Given the description of an element on the screen output the (x, y) to click on. 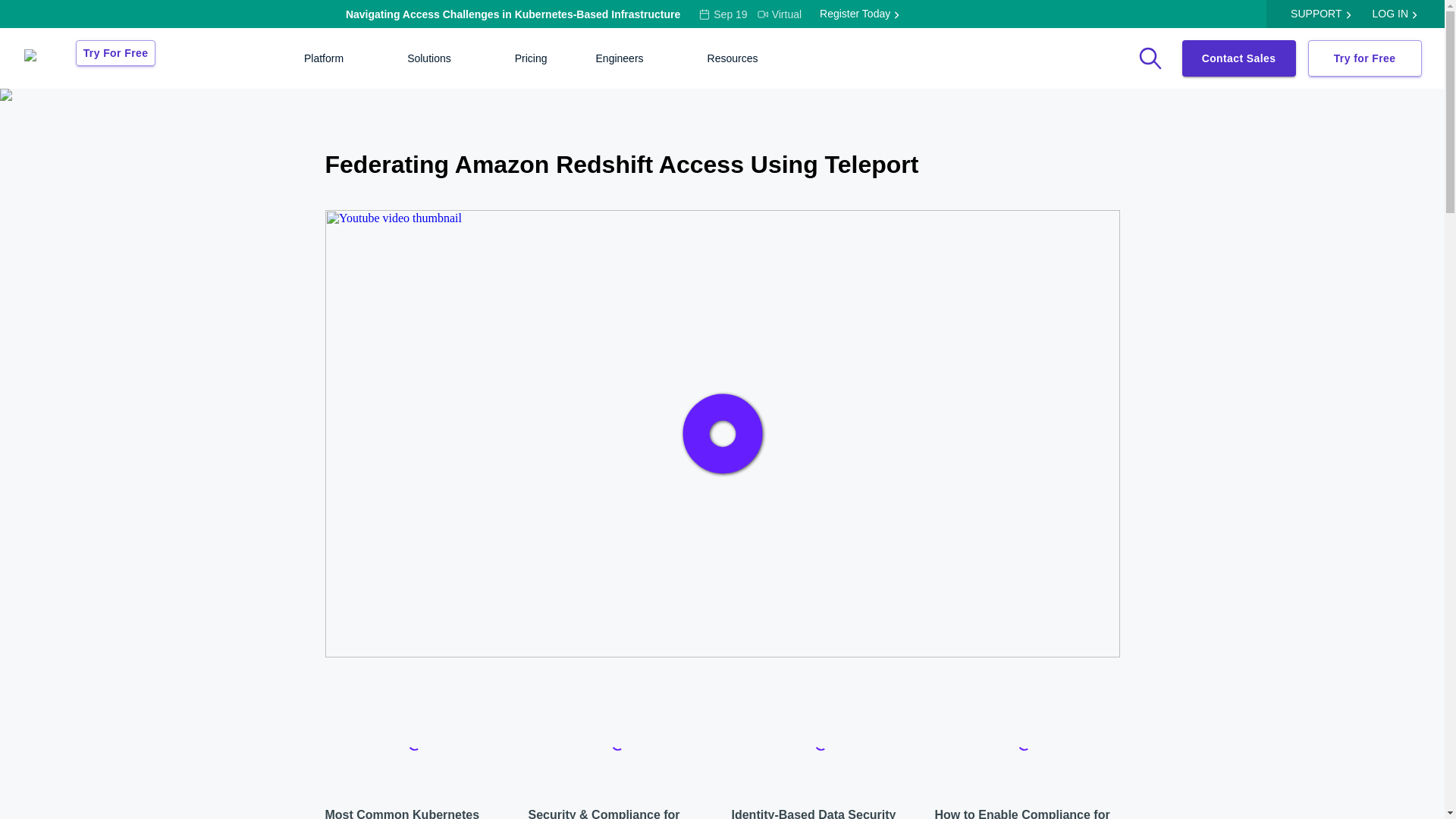
Pricing (531, 57)
SUPPORT (1315, 13)
LOG IN (1390, 13)
Try For Free (115, 53)
